Given the description of an element on the screen output the (x, y) to click on. 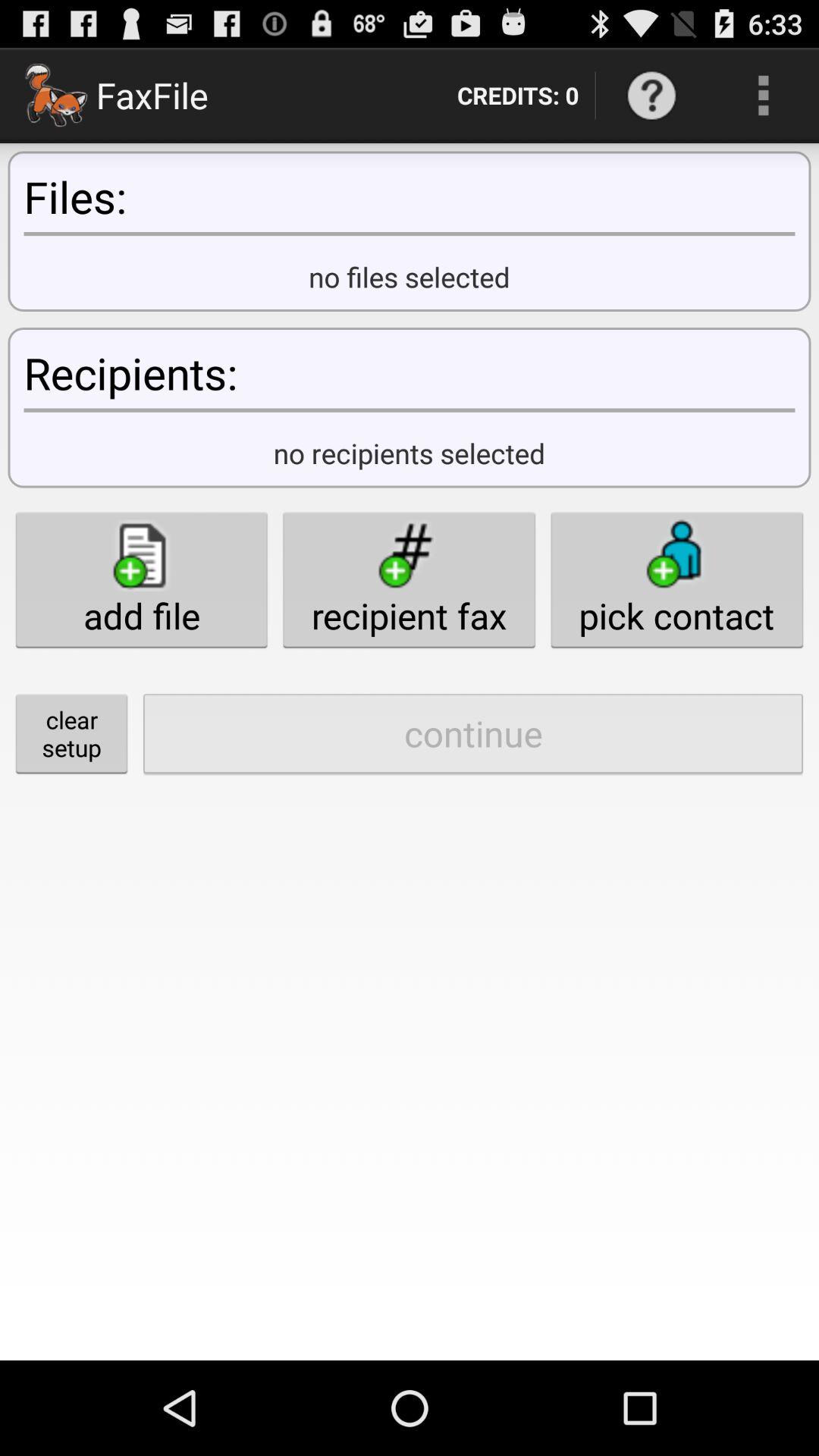
scroll until continue item (473, 733)
